Given the description of an element on the screen output the (x, y) to click on. 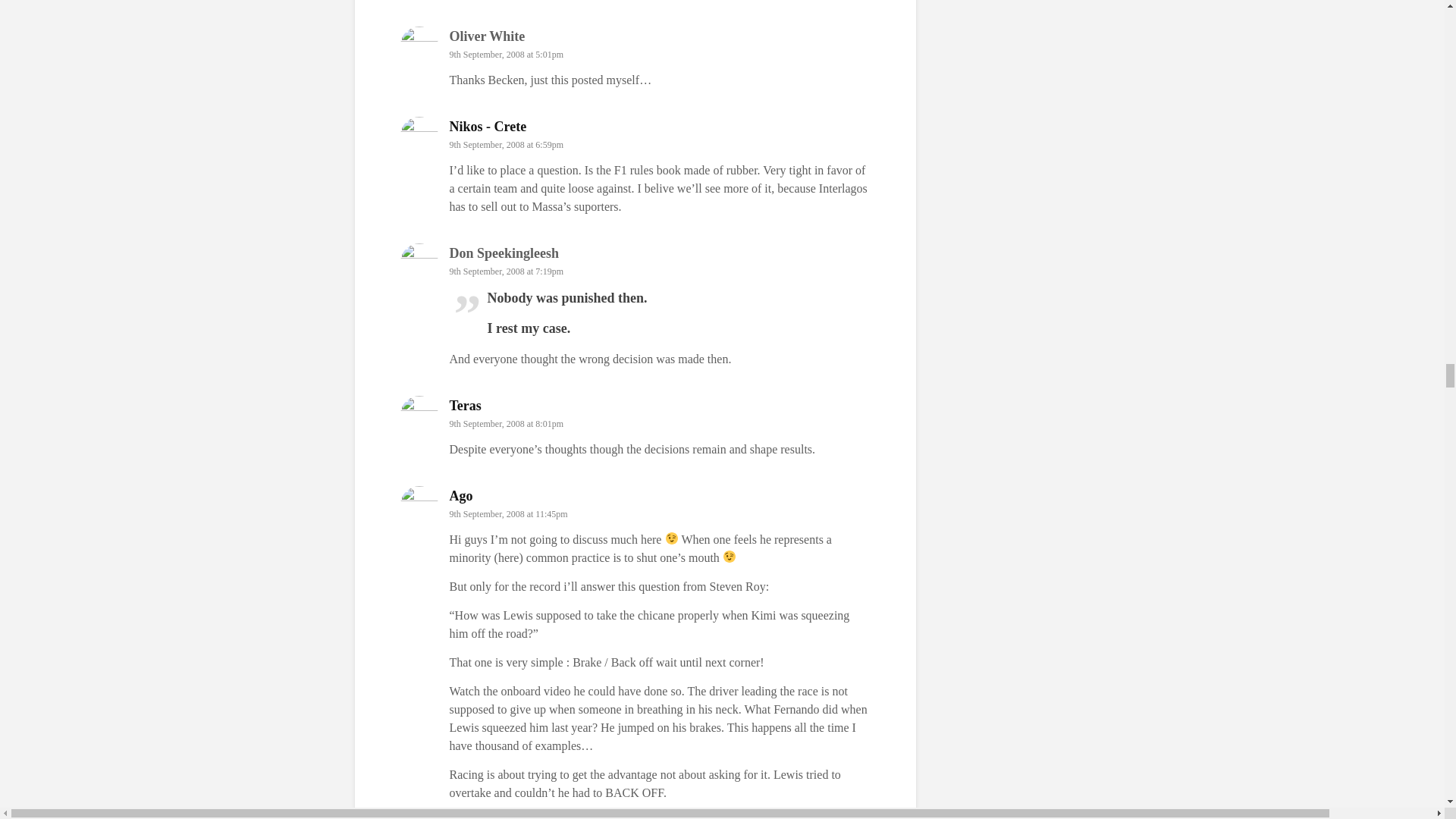
BlogF1 Article: McLaren Confirm: Appeal Lodged With FIA (591, 79)
